Given the description of an element on the screen output the (x, y) to click on. 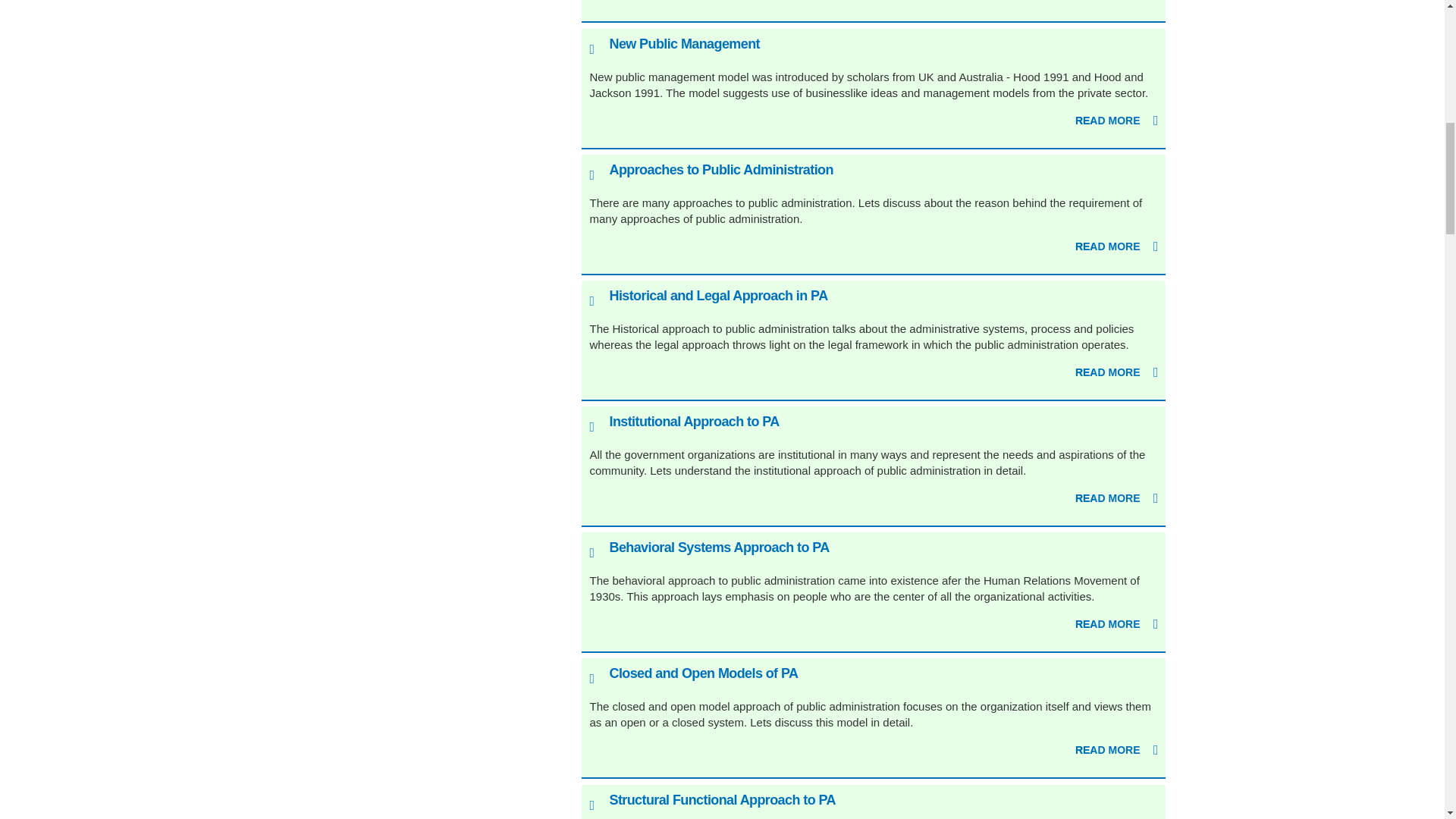
READ MORE (1116, 750)
Structural Functional Approach to PA (721, 799)
READ MORE (1116, 1)
Behavioral Systems Approach to PA (718, 547)
Institutional Approach to PA (693, 421)
Approaches to Public Administration (720, 169)
READ MORE (1116, 246)
Closed and Open Models of PA (702, 672)
READ MORE (1116, 372)
New Public Management (683, 43)
